Given the description of an element on the screen output the (x, y) to click on. 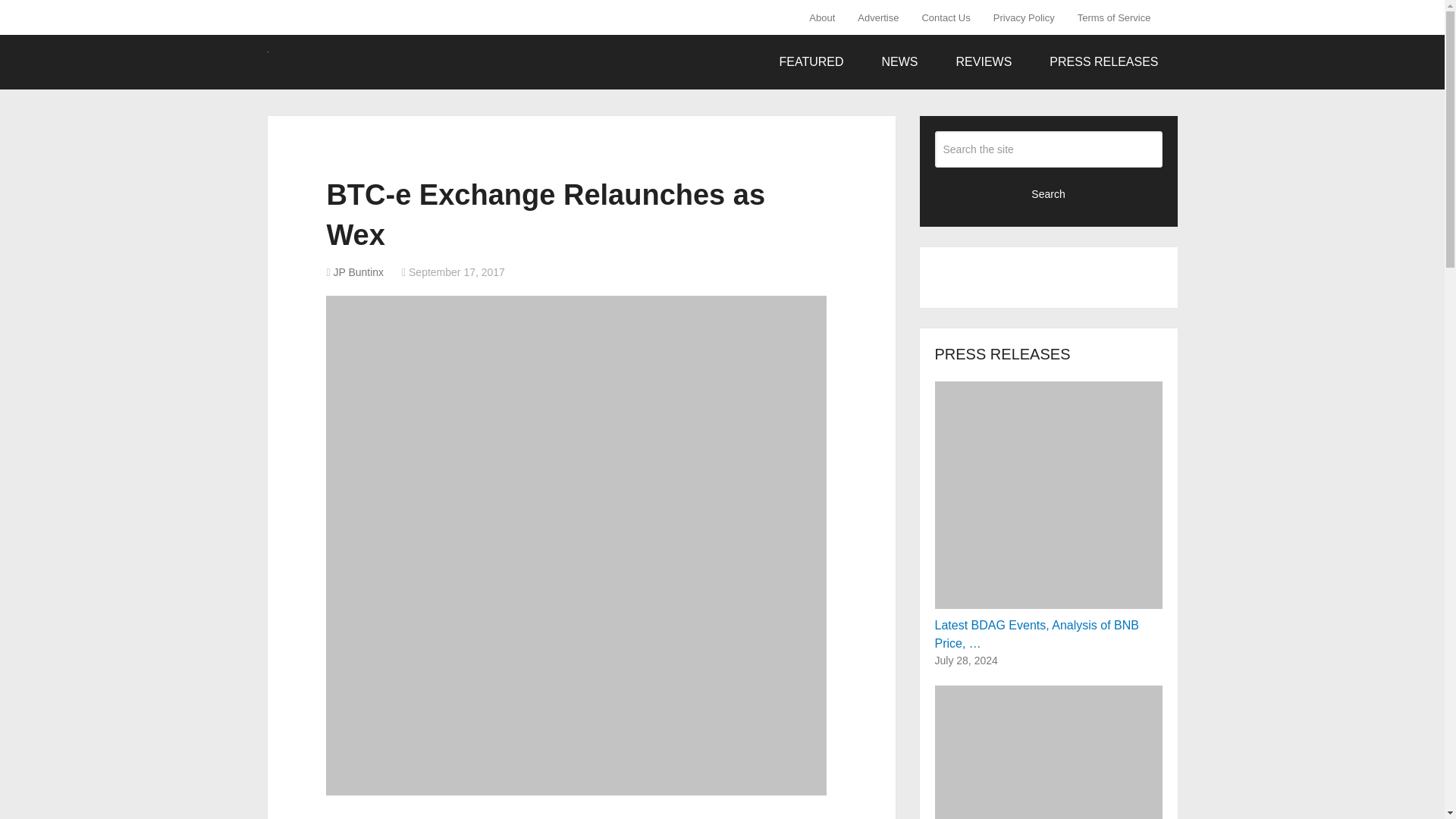
Posts by JP Buntinx (358, 272)
Terms of Service (1113, 17)
Latest BDAG Events, Analysis of BNB Price, Updates on Tron (1047, 514)
REVIEWS (983, 62)
Contact Us (945, 17)
Privacy Policy (1023, 17)
Search (1047, 193)
Advertise (877, 17)
FEATURED (810, 62)
PRESS RELEASES (1103, 62)
NEWS (900, 62)
About (827, 17)
JP Buntinx (358, 272)
